Given the description of an element on the screen output the (x, y) to click on. 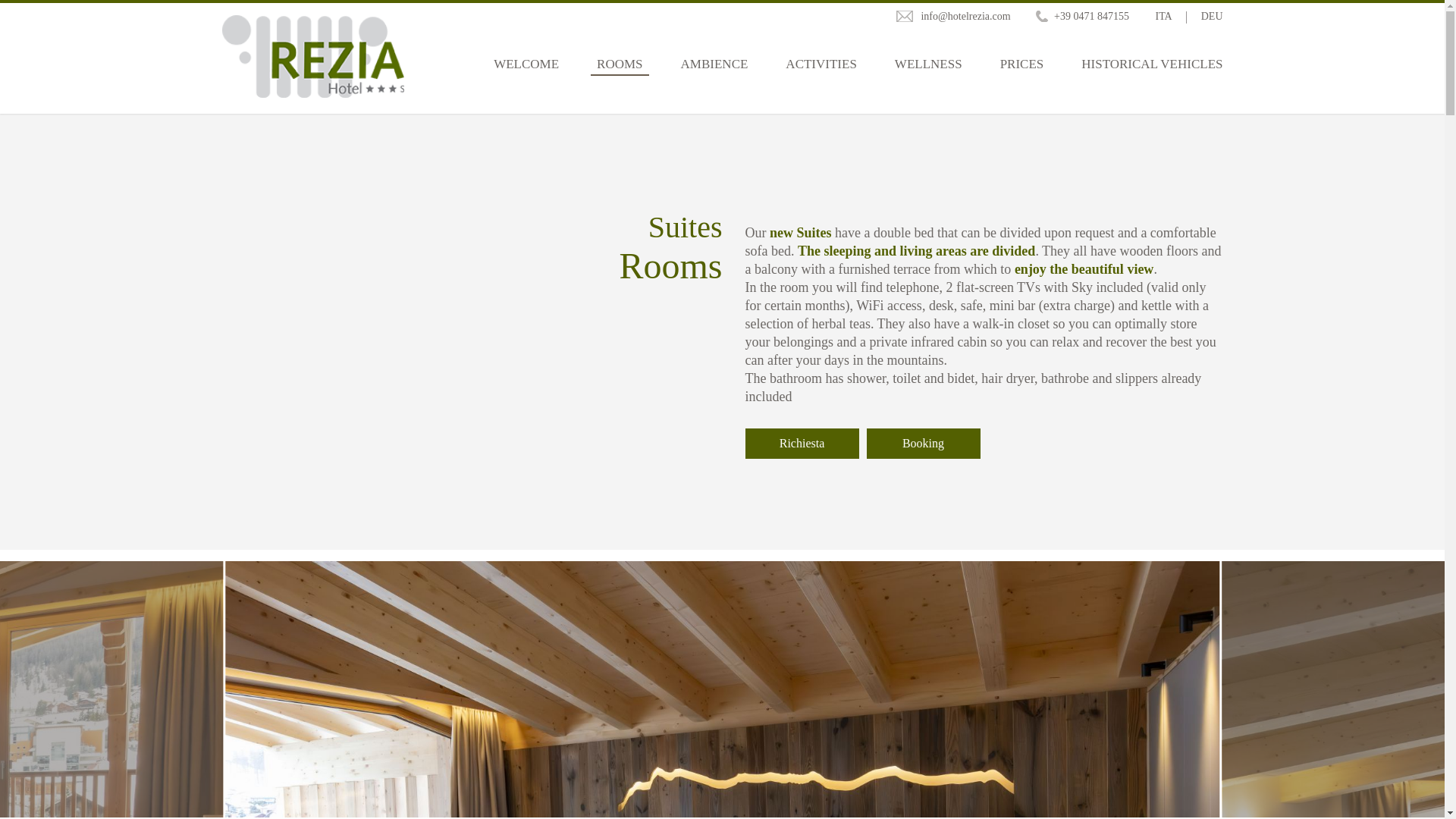
Telefono (1082, 16)
WELCOME (526, 83)
ACTIVITIES (821, 83)
ITA (1164, 16)
DEU (1212, 16)
WELLNESS (928, 83)
PRICES (1021, 83)
E-mail (953, 16)
Richiesta (801, 443)
ROOMS (619, 83)
HISTORICAL VEHICLES (1151, 83)
Logo Hotel Rezia - Alta Badia (312, 56)
AMBIENCE (714, 83)
